Given the description of an element on the screen output the (x, y) to click on. 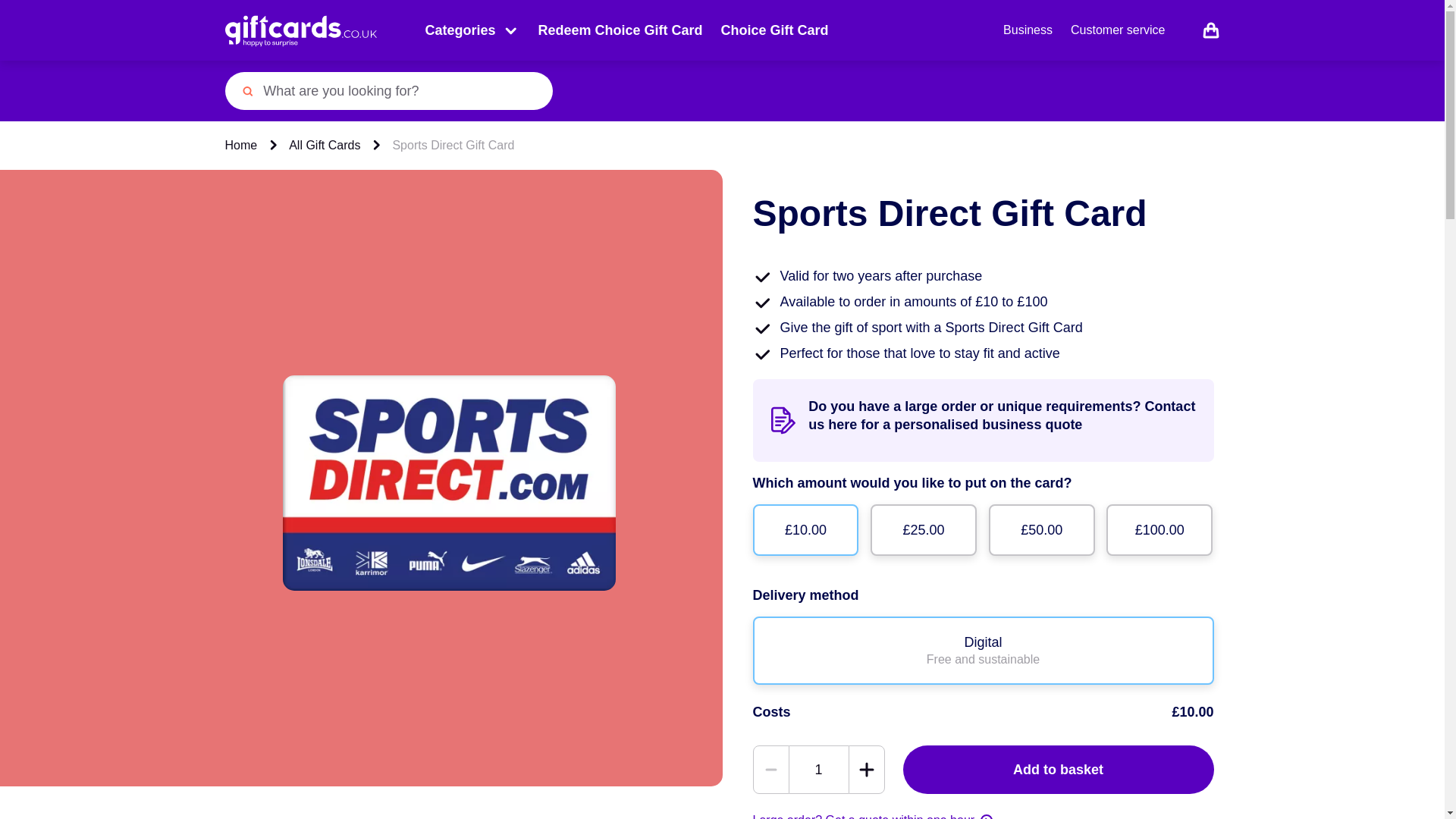
1 (818, 769)
All Gift Cards (323, 145)
Business (1027, 30)
Choice Gift Card (774, 30)
Large order? Get a quote within one hour (872, 815)
Add to basket (1057, 769)
Redeem Choice Gift Card (620, 30)
Customer service (1117, 30)
Home (240, 145)
